Given the description of an element on the screen output the (x, y) to click on. 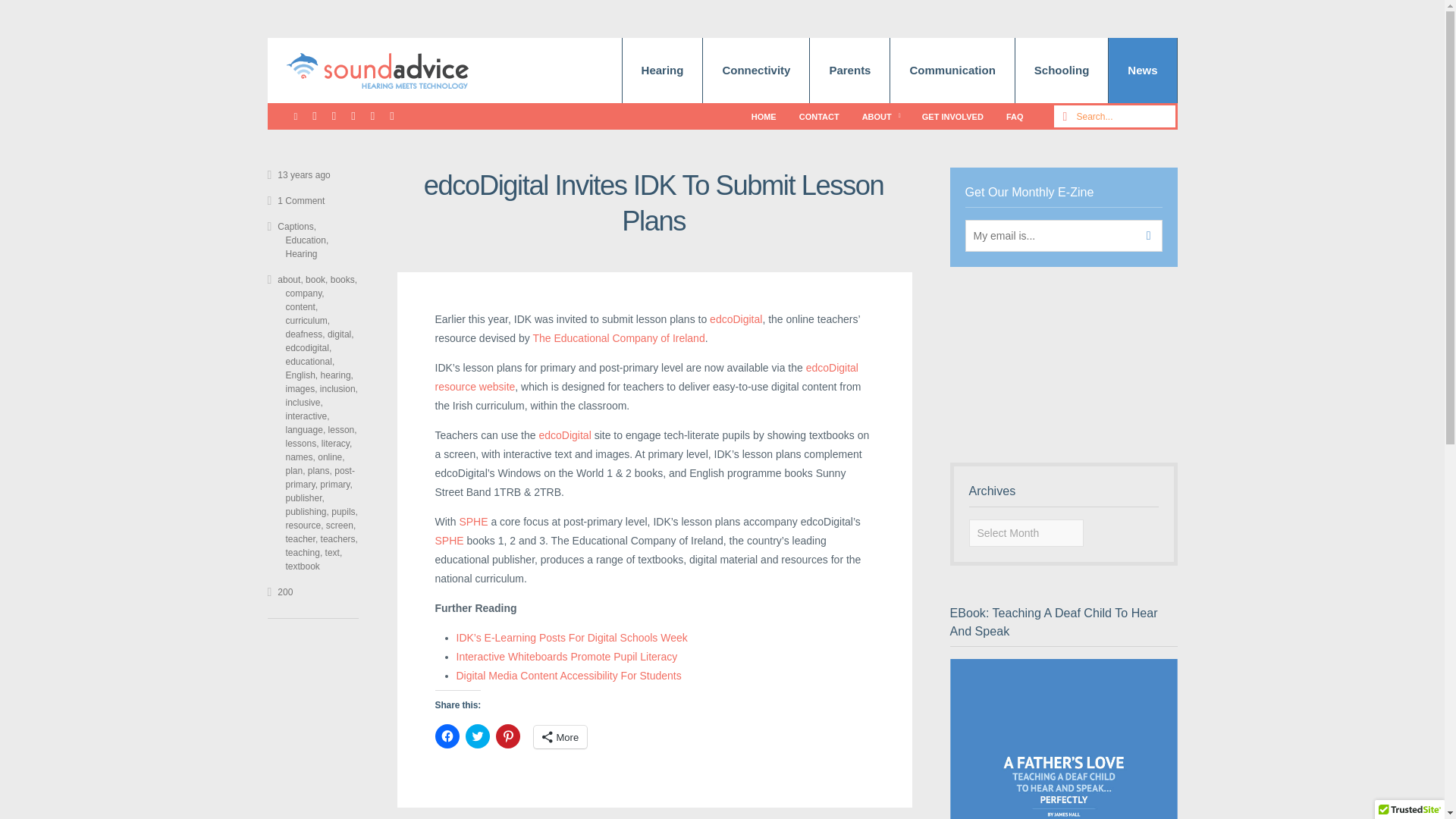
Subscribe (1144, 235)
Communication (951, 70)
Click to share on Twitter (477, 735)
Click to share on Facebook (447, 735)
HOME (763, 116)
Parents (849, 70)
News (1142, 70)
Hearing (663, 70)
Click to share on Pinterest (507, 735)
Connectivity (756, 70)
Schooling (1061, 70)
